Given the description of an element on the screen output the (x, y) to click on. 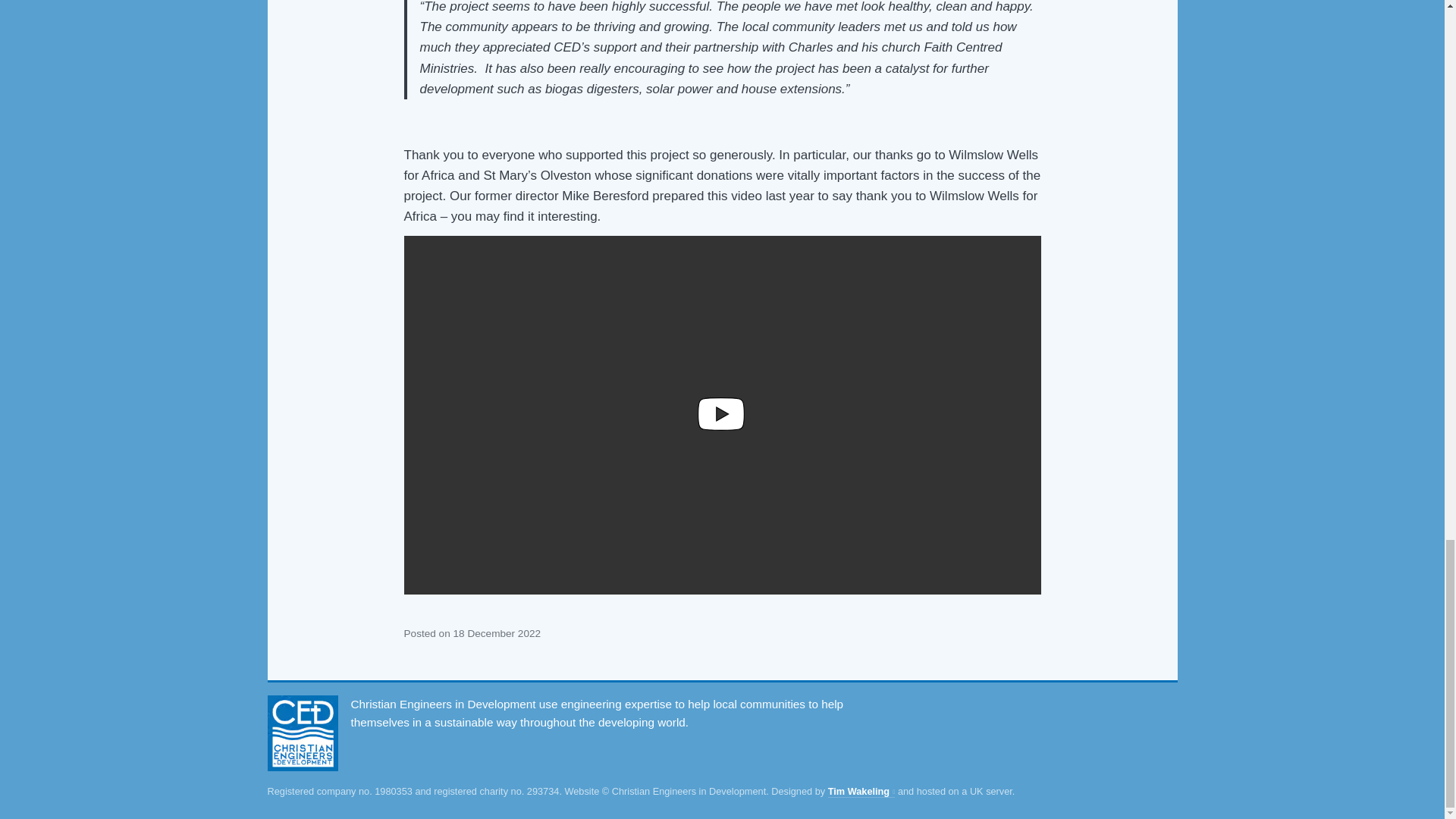
Youtube icon (721, 413)
Tim Wakeling is a Chester Web designer. (861, 791)
Tim Wakeling (861, 791)
